Given the description of an element on the screen output the (x, y) to click on. 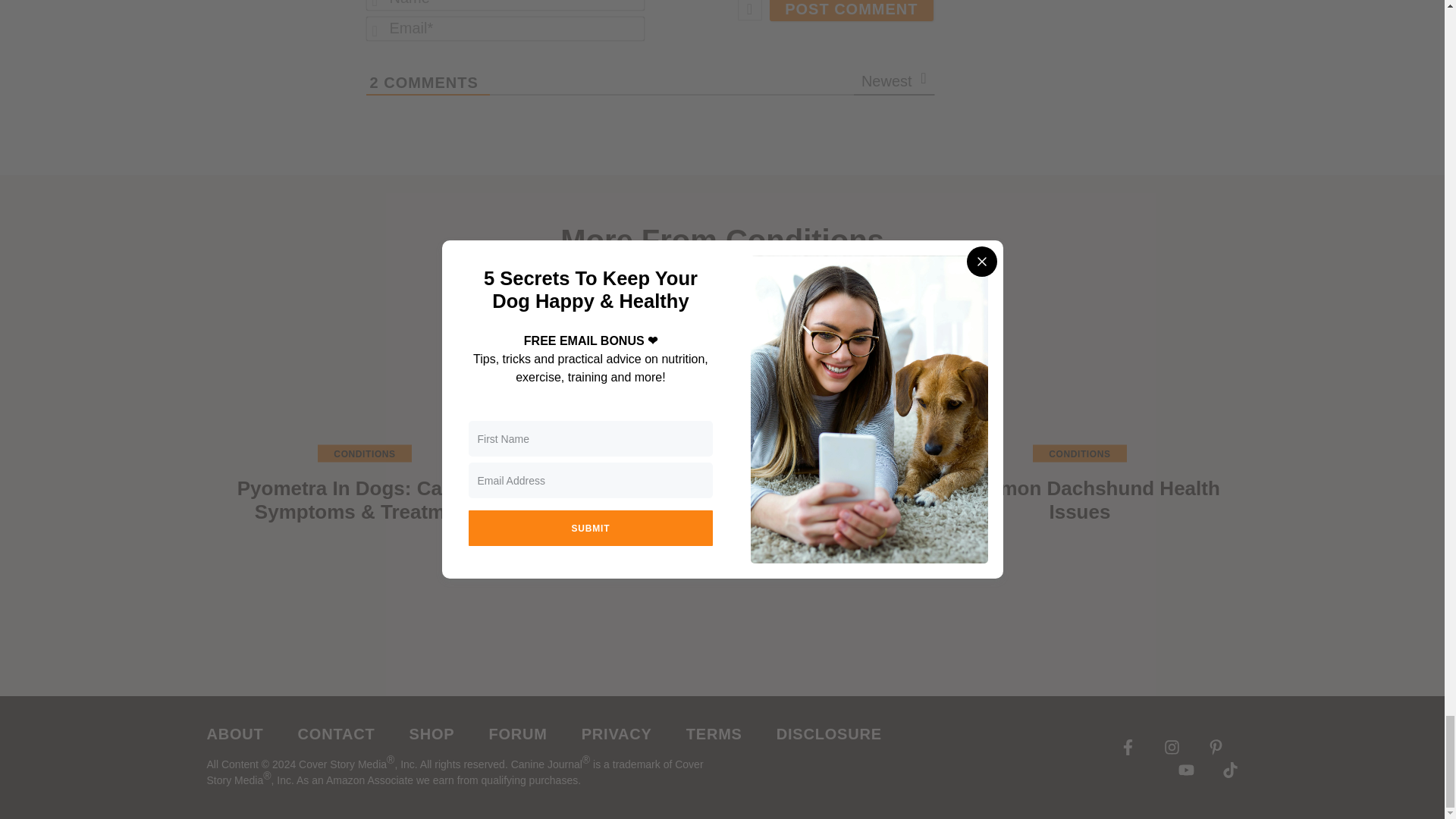
Post Comment (851, 10)
